Given the description of an element on the screen output the (x, y) to click on. 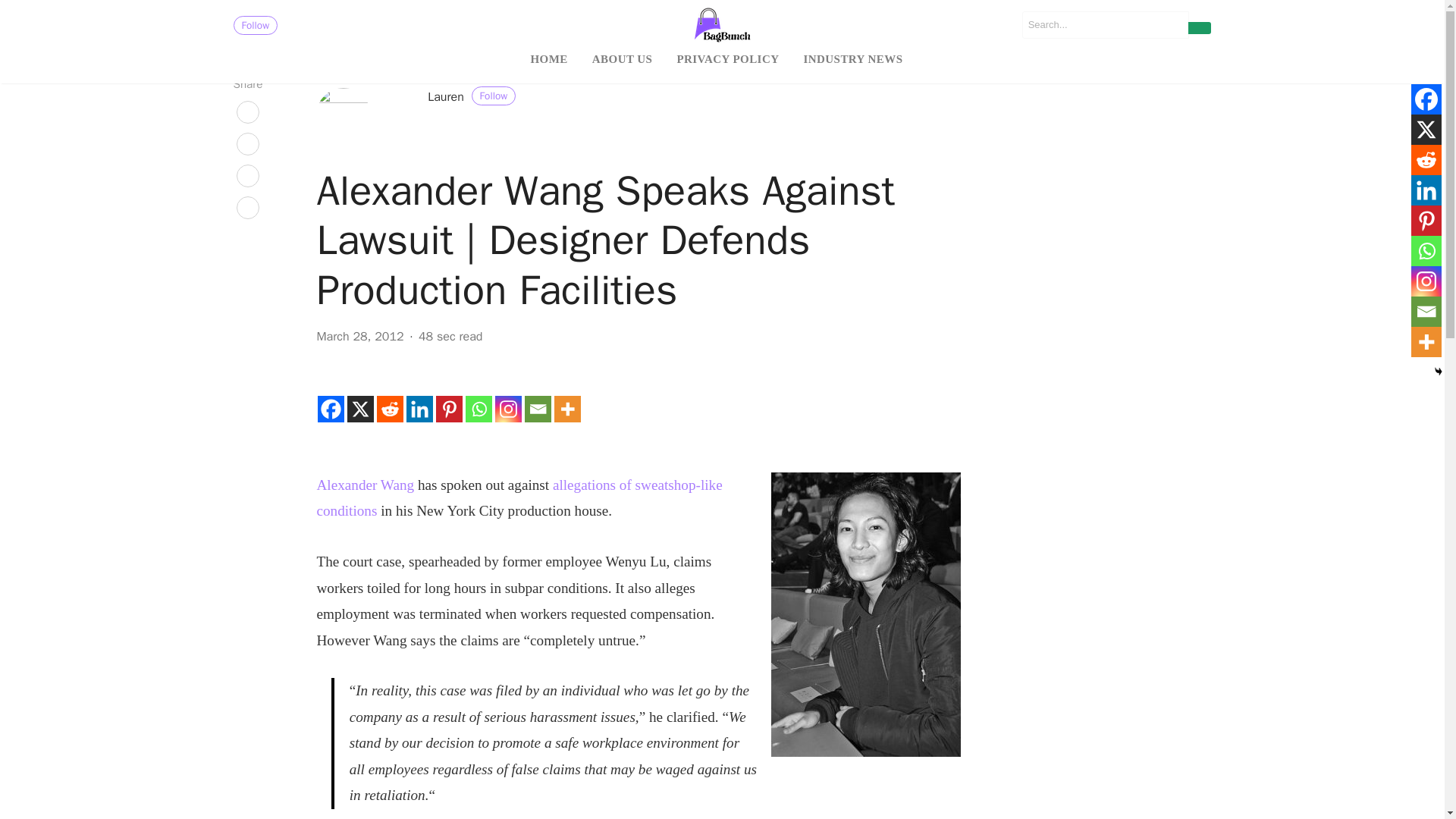
allegations of sweatshop-like conditions (518, 497)
INDUSTRY NEWS (852, 59)
Instagram (508, 408)
ABOUT US (622, 59)
Pinterest (449, 408)
X (360, 408)
Search for: (1105, 24)
Facebook (330, 408)
Reddit (390, 408)
PRIVACY POLICY (726, 59)
X (1425, 129)
Email (537, 408)
More (567, 408)
Whatsapp (478, 408)
Whatsapp (1425, 250)
